Given the description of an element on the screen output the (x, y) to click on. 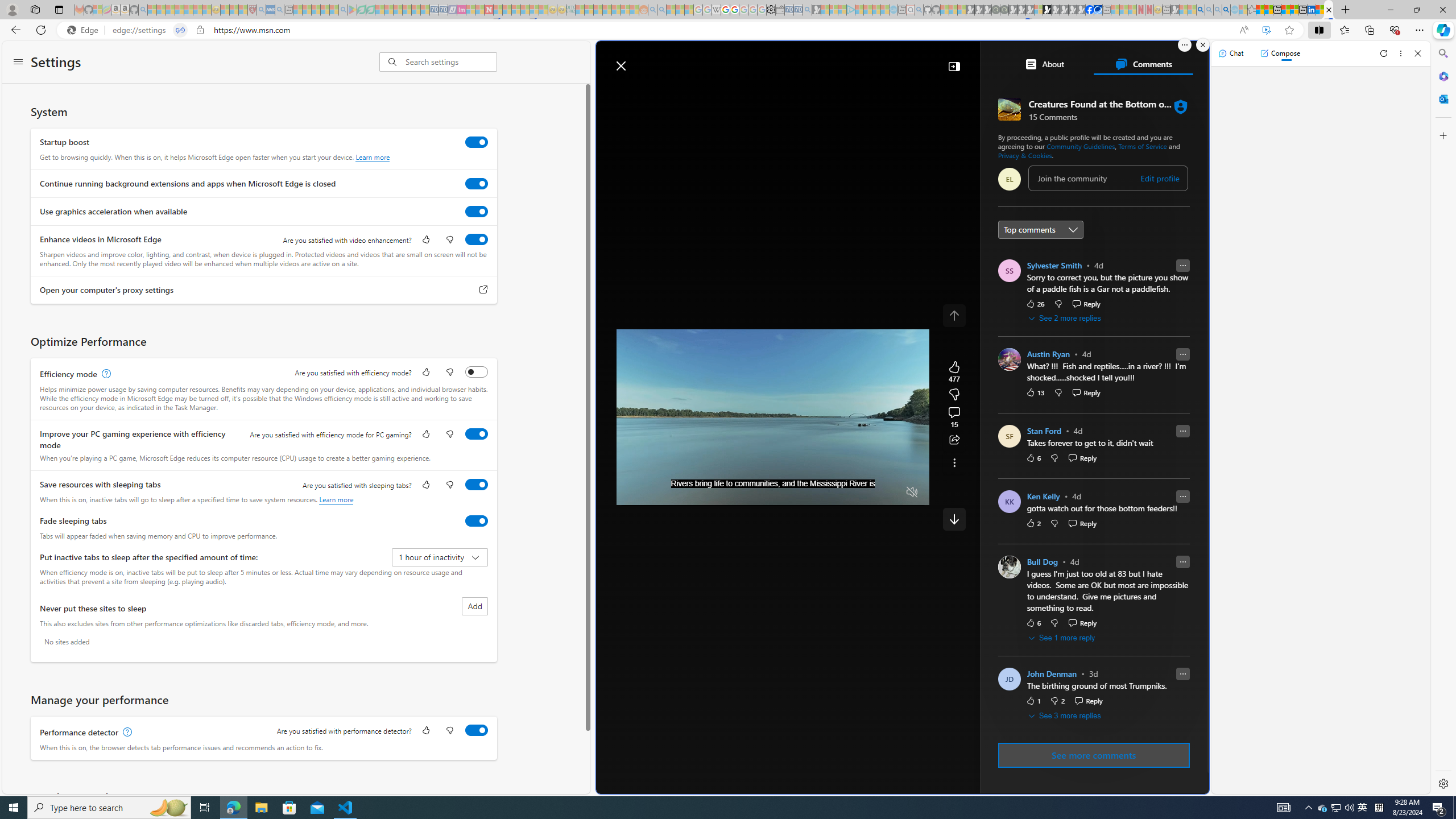
Fade sleeping tabs (476, 520)
MSN - Sleeping (1174, 9)
Future Focus Report 2024 - Sleeping (1004, 9)
Close split screen. (1202, 45)
